Given the description of an element on the screen output the (x, y) to click on. 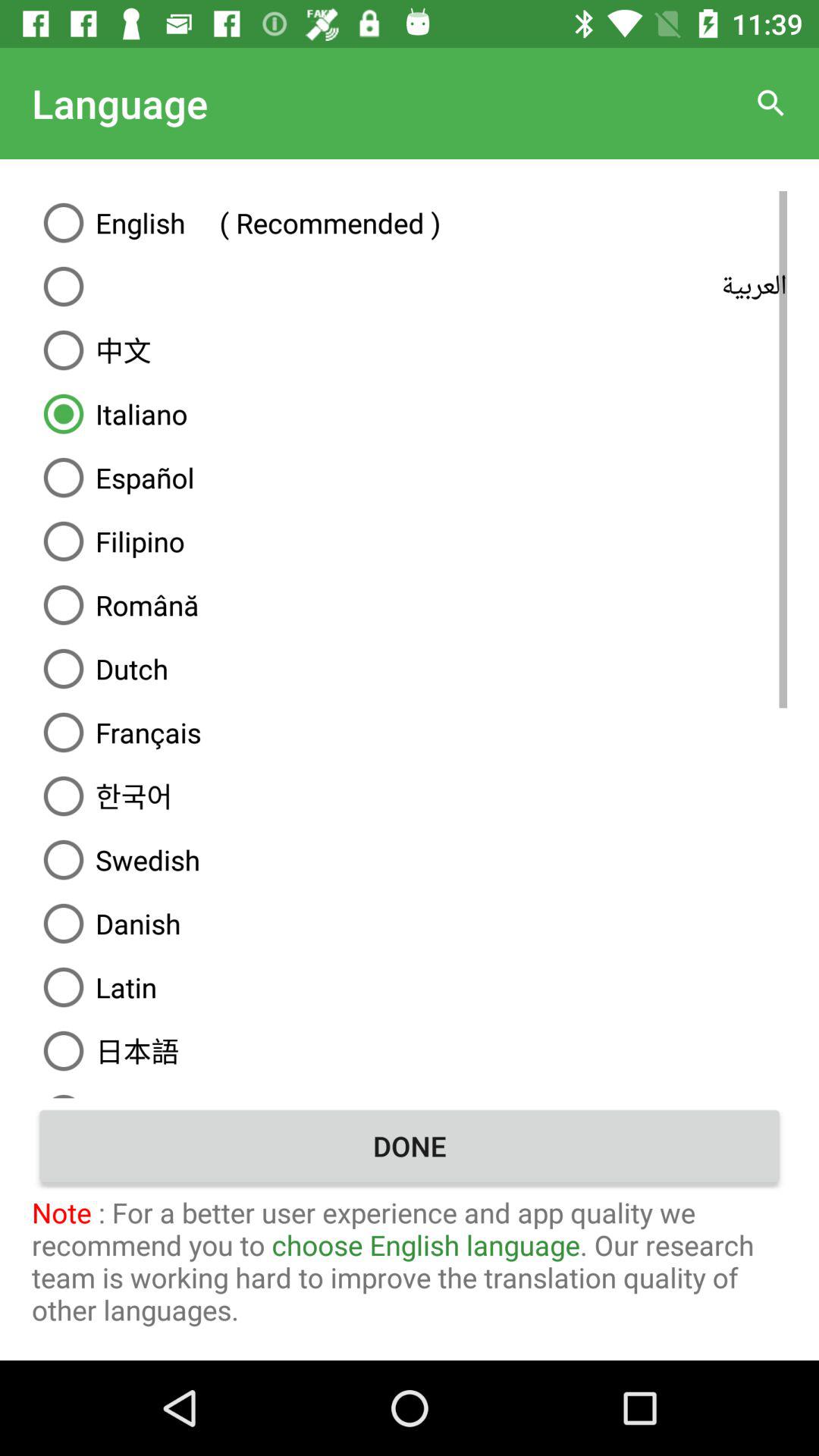
flip until swedish (409, 859)
